Given the description of an element on the screen output the (x, y) to click on. 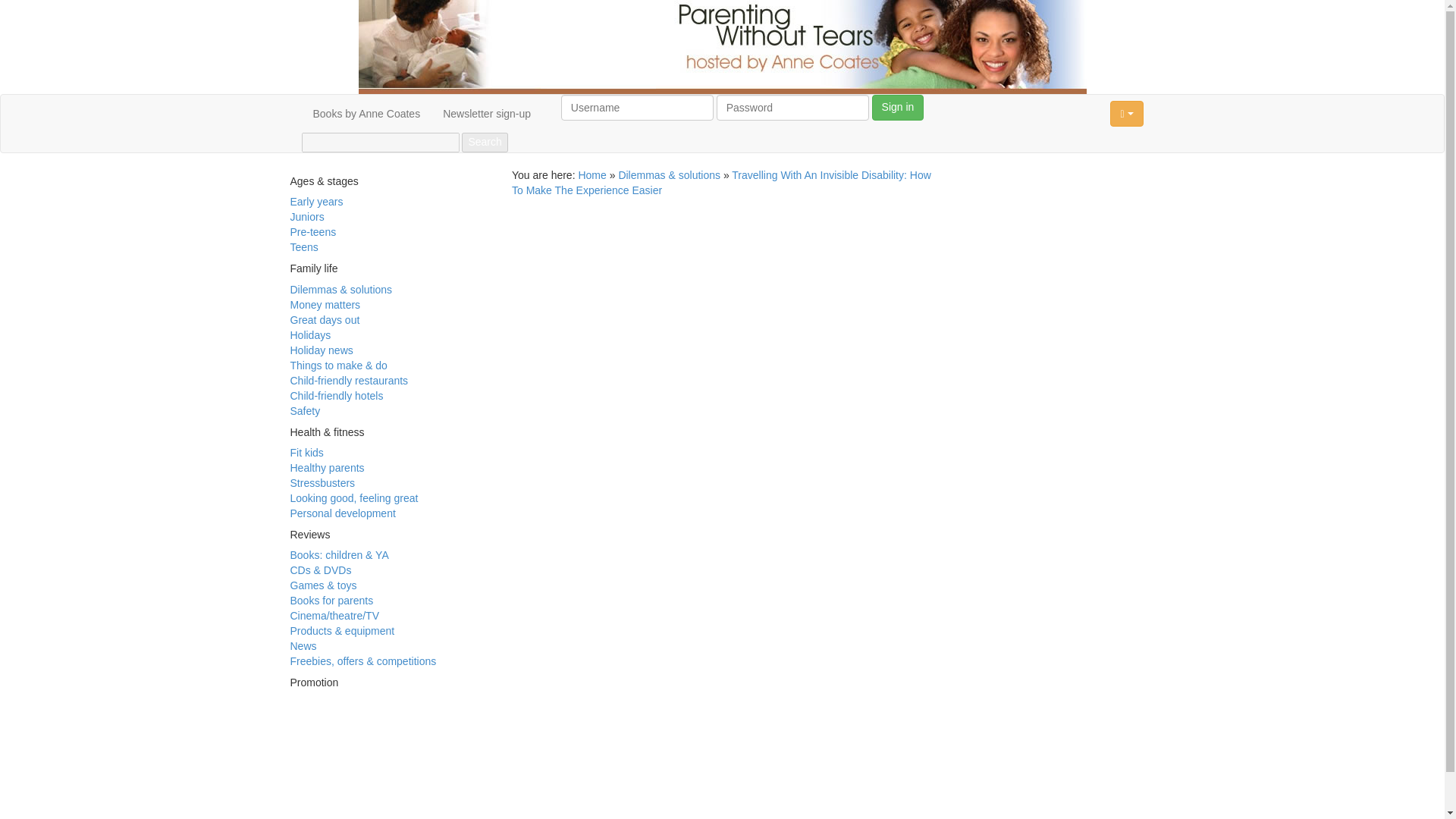
Advertisement (349, 798)
Pre-teens (312, 232)
Fit kids (306, 452)
Search (483, 142)
Teens (303, 246)
Sign in (898, 107)
News (302, 645)
Looking good, feeling great (353, 498)
Search (483, 142)
